Given the description of an element on the screen output the (x, y) to click on. 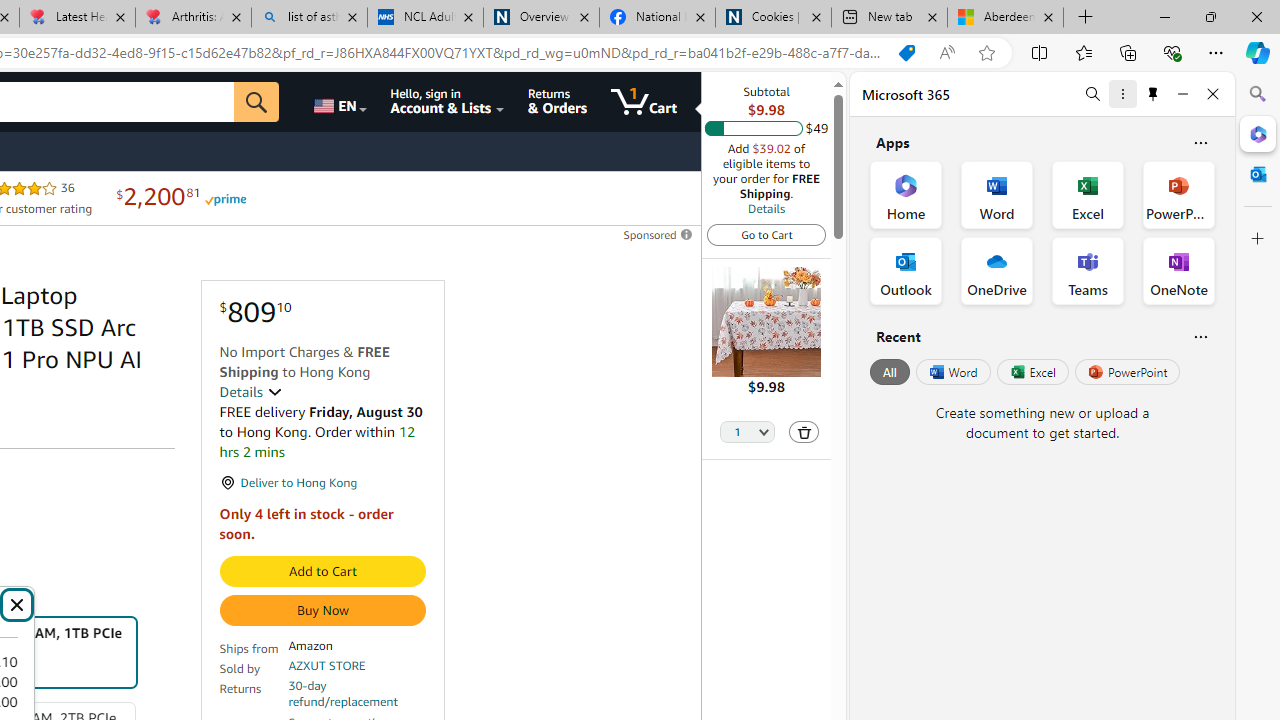
Go (257, 101)
AZXUT STORE (327, 665)
Is this helpful? (1200, 336)
Teams Office App (1087, 270)
OneDrive Office App (996, 270)
Cookies | About | NICE (772, 17)
